Given the description of an element on the screen output the (x, y) to click on. 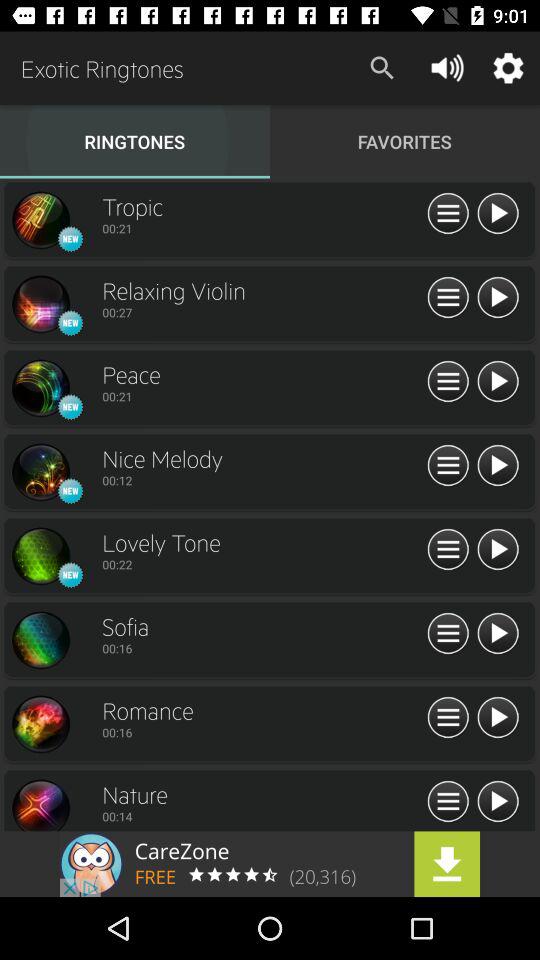
open ringtone (40, 804)
